Given the description of an element on the screen output the (x, y) to click on. 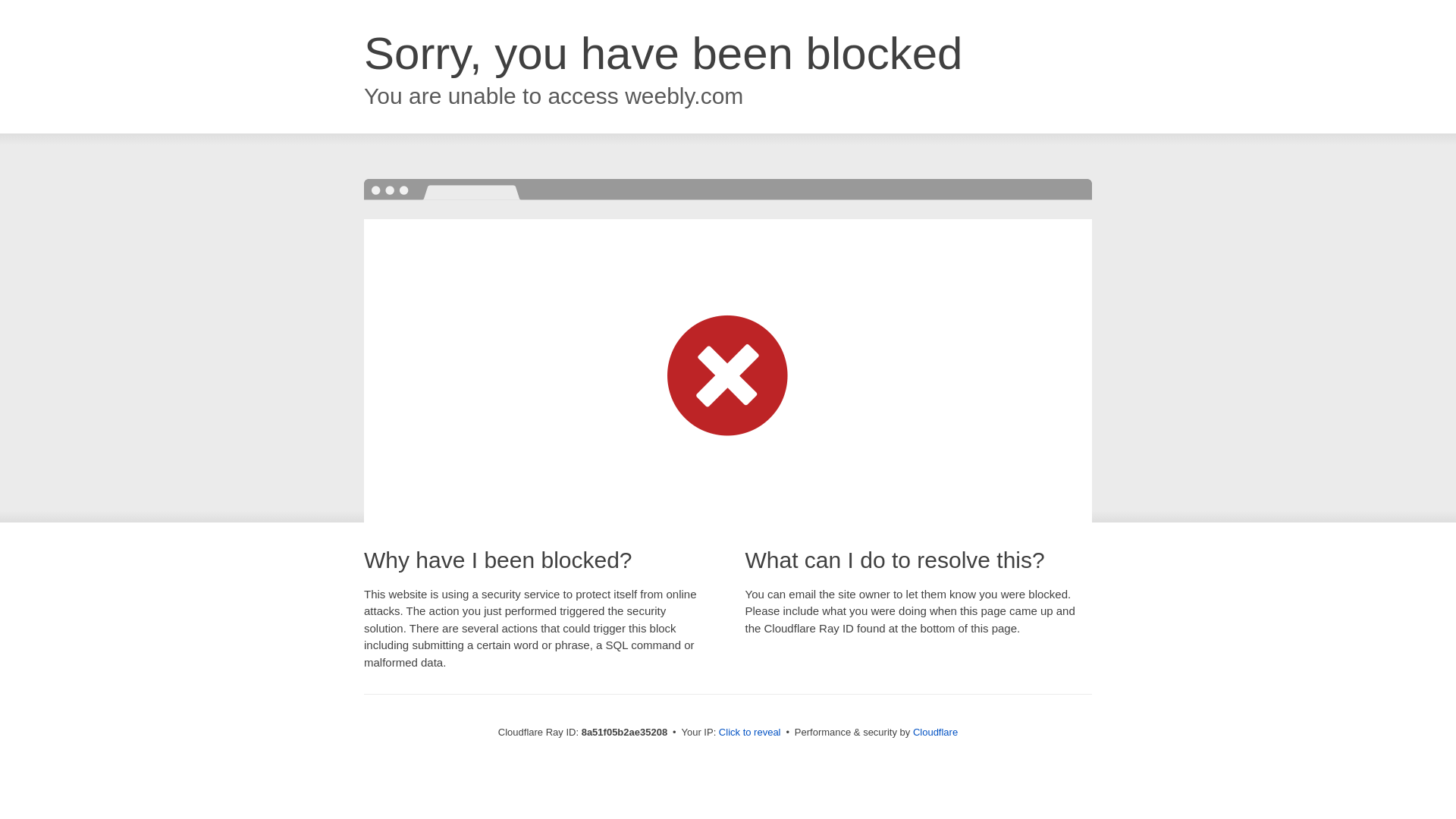
Cloudflare (935, 731)
Click to reveal (749, 732)
